Given the description of an element on the screen output the (x, y) to click on. 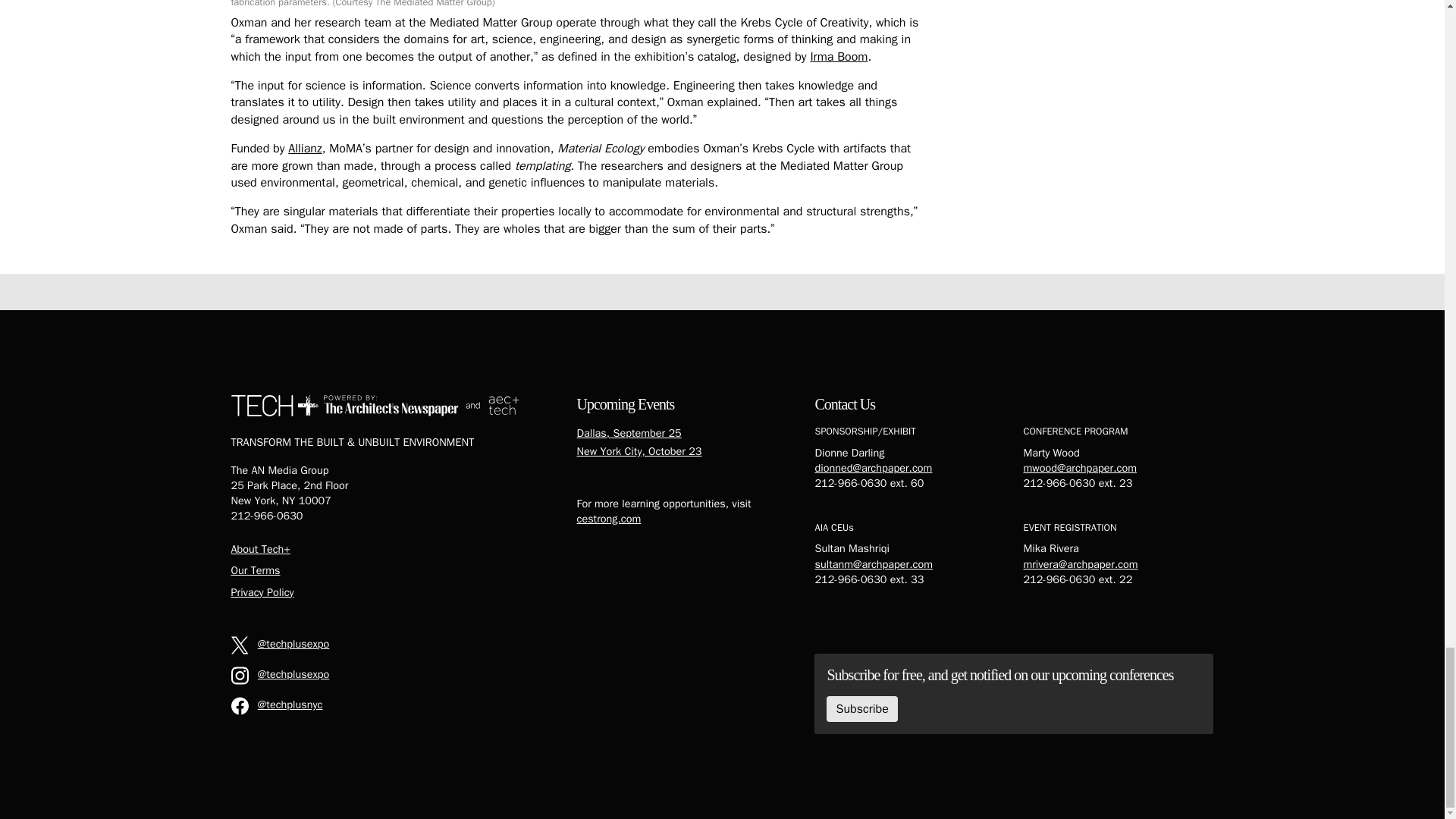
New York City, October 23 (638, 450)
Irma Boom (838, 56)
Privacy Policy (262, 591)
Dallas, September 25 (628, 432)
Allianz (304, 148)
Our Terms (254, 570)
